Given the description of an element on the screen output the (x, y) to click on. 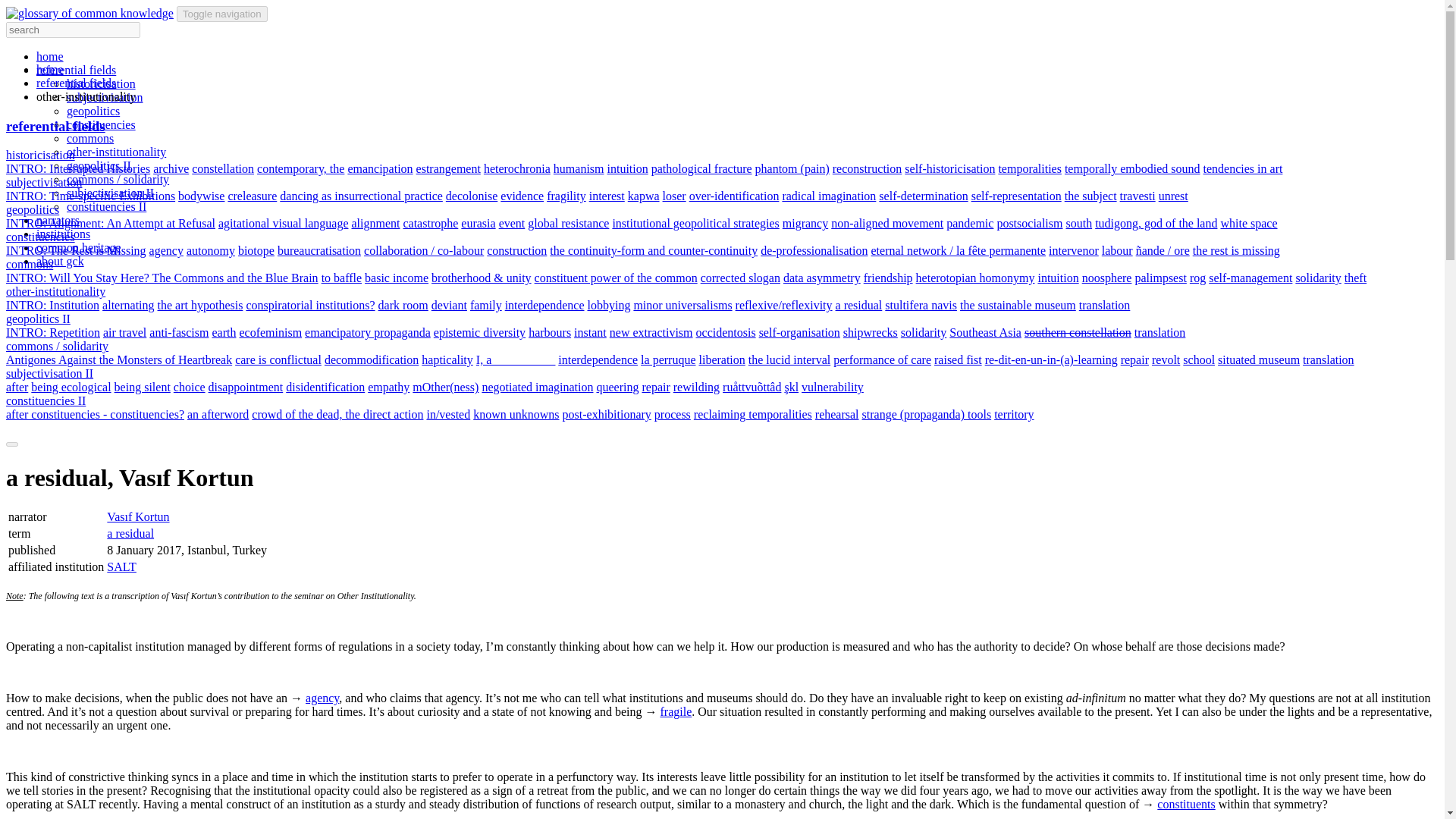
geopolitics (92, 110)
referential fields (76, 69)
Toggle navigation (221, 13)
home (50, 56)
pathological fracture (701, 168)
intuition (627, 168)
constituencies II (106, 205)
temporally embodied sound (1131, 168)
commons (89, 137)
common heritage (78, 246)
constellation (222, 168)
humanism (578, 168)
reconstruction (867, 168)
institutions (63, 233)
subjectivisation (43, 182)
